Given the description of an element on the screen output the (x, y) to click on. 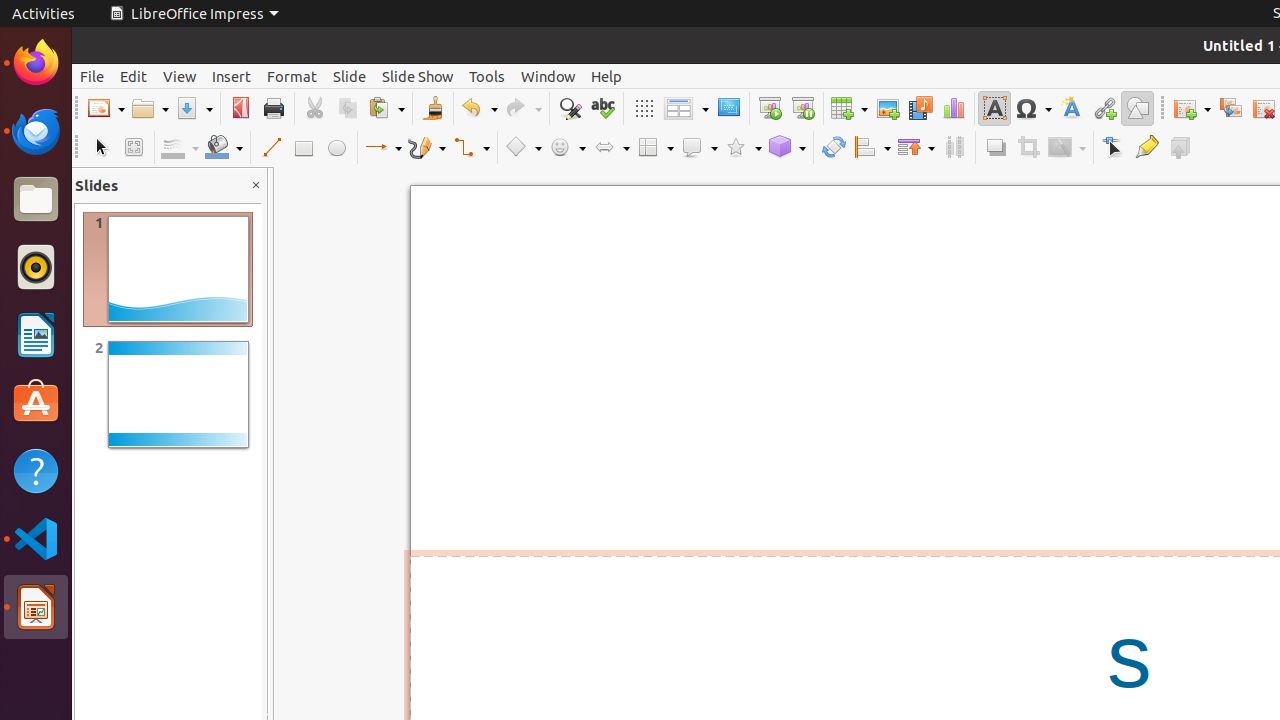
Select Element type: push-button (100, 147)
Line Element type: push-button (270, 147)
Filter Element type: push-button (1067, 147)
Slide Show Element type: menu (417, 76)
Open Element type: push-button (150, 108)
